Given the description of an element on the screen output the (x, y) to click on. 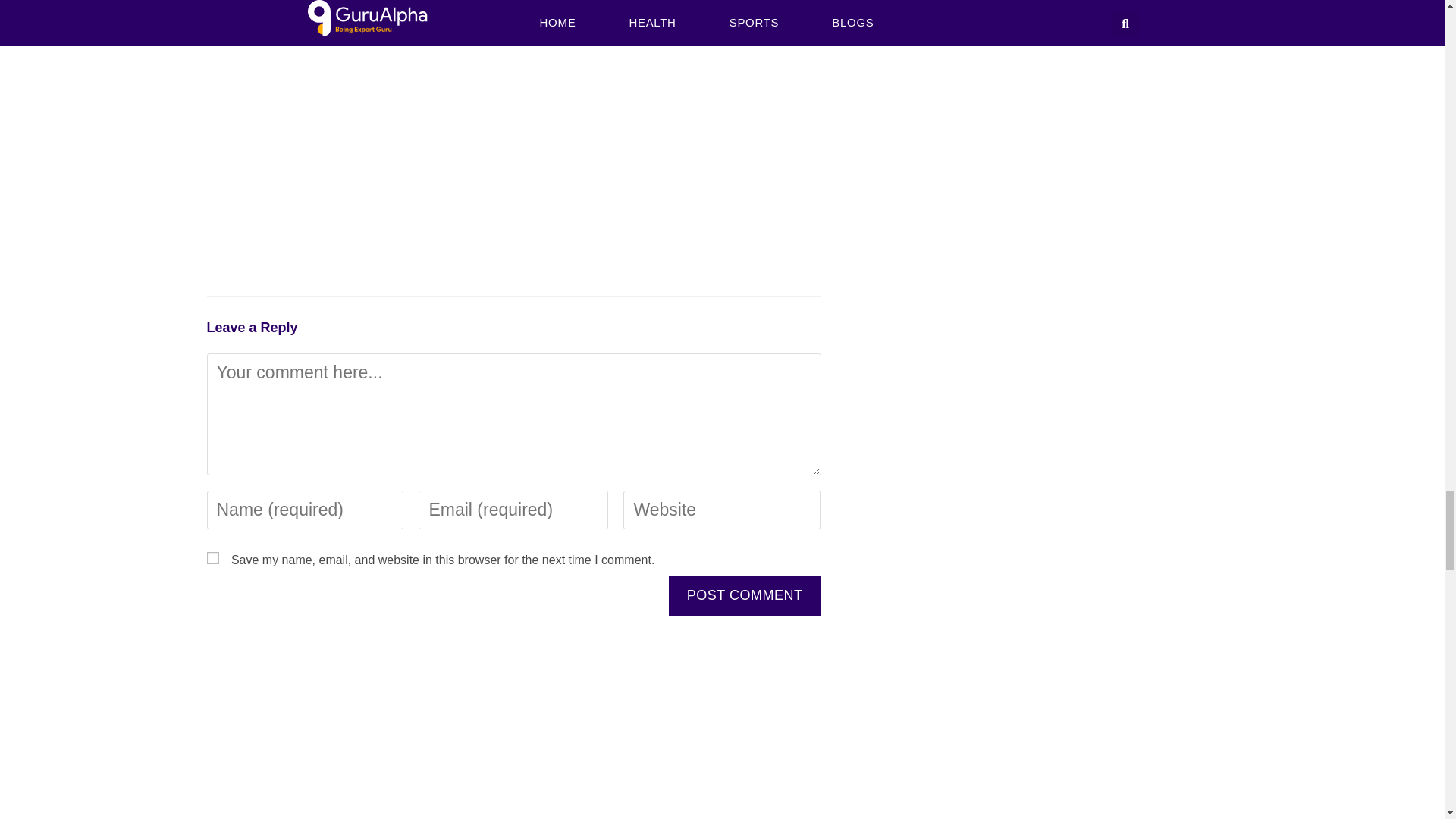
yes (212, 558)
Post Comment (744, 595)
Post Comment (744, 595)
